Given the description of an element on the screen output the (x, y) to click on. 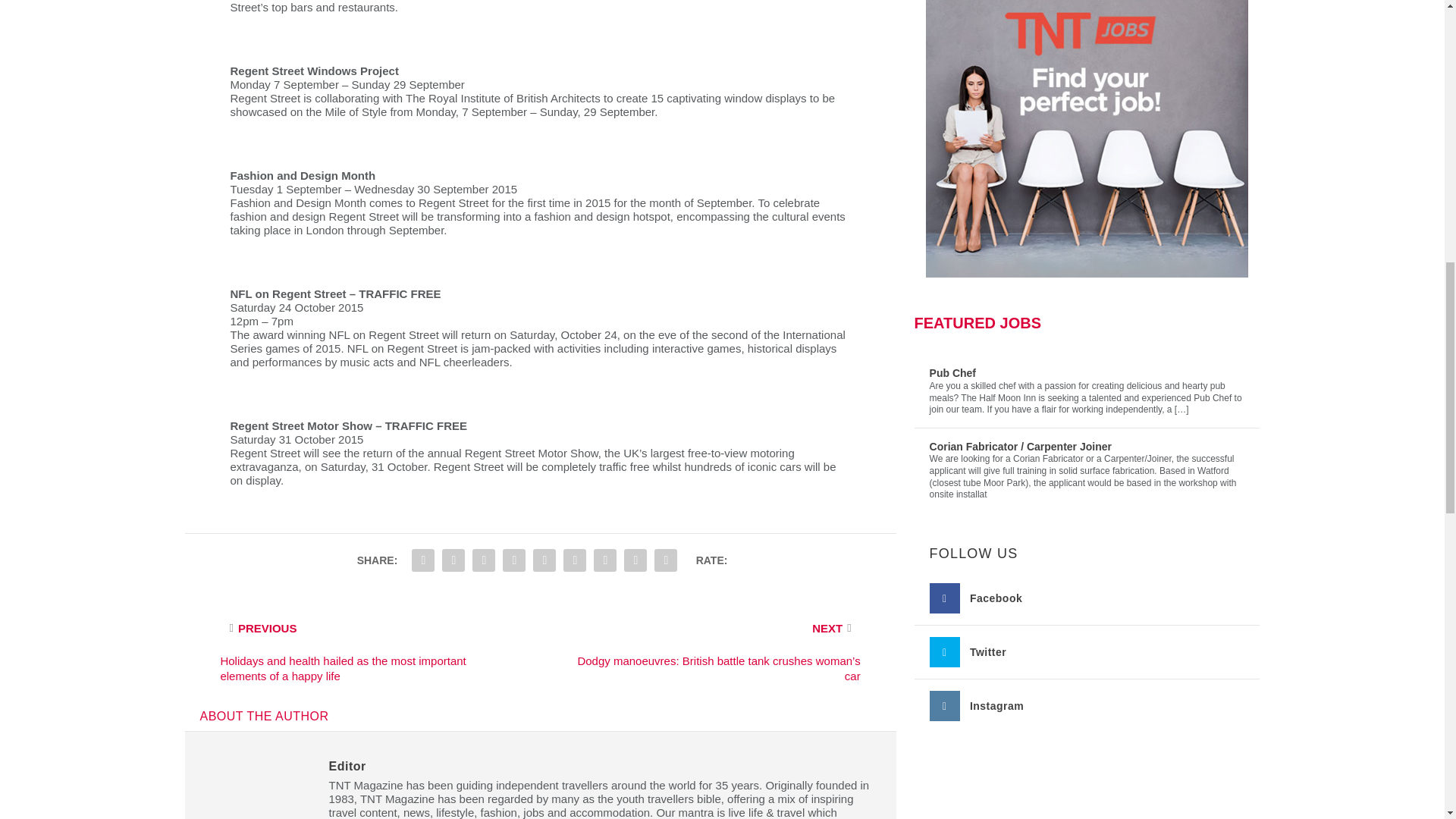
Editor (347, 766)
Share "Regent Street in numbers" via Pinterest (514, 560)
Share "Regent Street in numbers" via Tumblr (483, 560)
Share "Regent Street in numbers" via Facebook (422, 560)
Share "Regent Street in numbers" via LinkedIn (544, 560)
View all posts by Editor (347, 766)
Share "Regent Street in numbers" via Email (635, 560)
Share "Regent Street in numbers" via Twitter (453, 560)
Share "Regent Street in numbers" via Stumbleupon (604, 560)
Share "Regent Street in numbers" via Buffer (574, 560)
Share "Regent Street in numbers" via Print (665, 560)
